Given the description of an element on the screen output the (x, y) to click on. 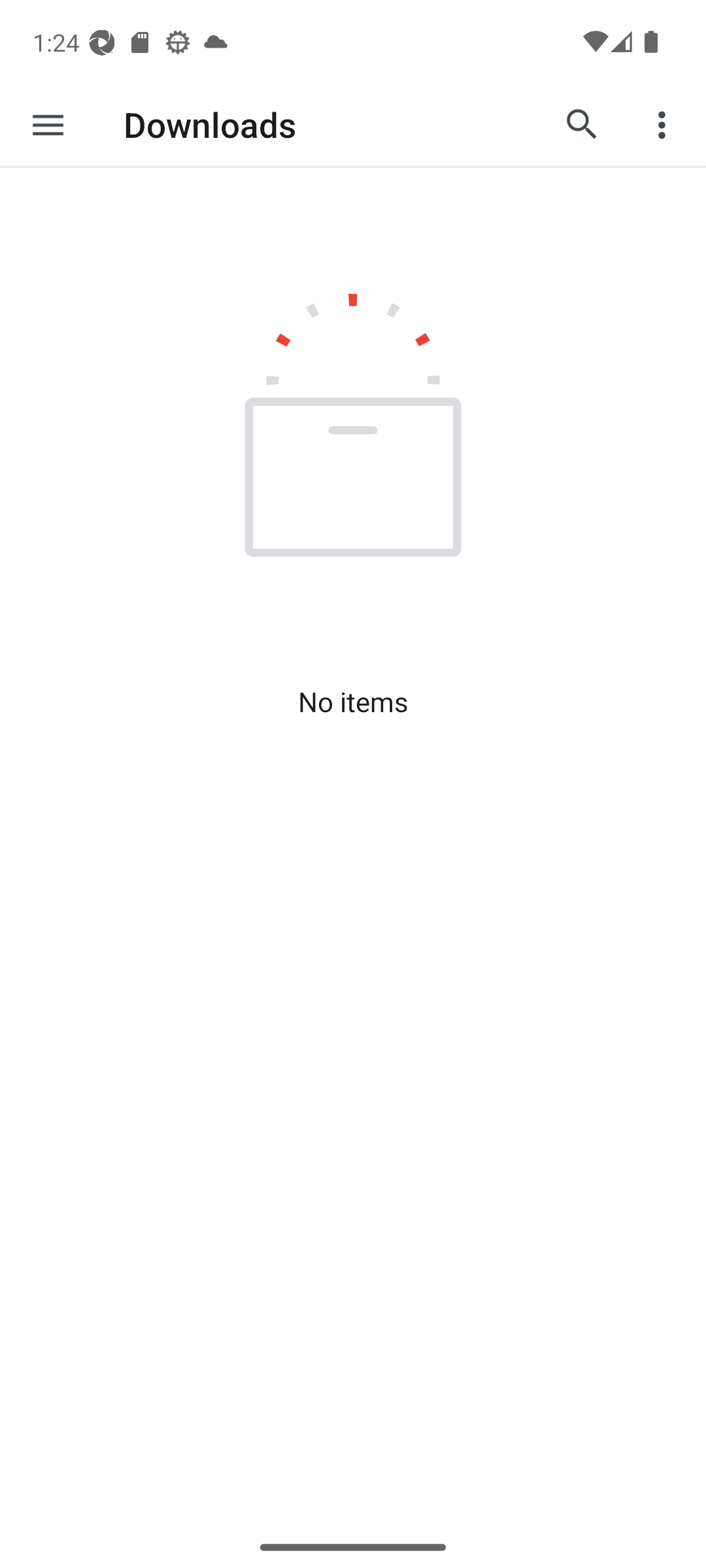
Show roots (48, 124)
Search (581, 124)
More options (664, 124)
